Given the description of an element on the screen output the (x, y) to click on. 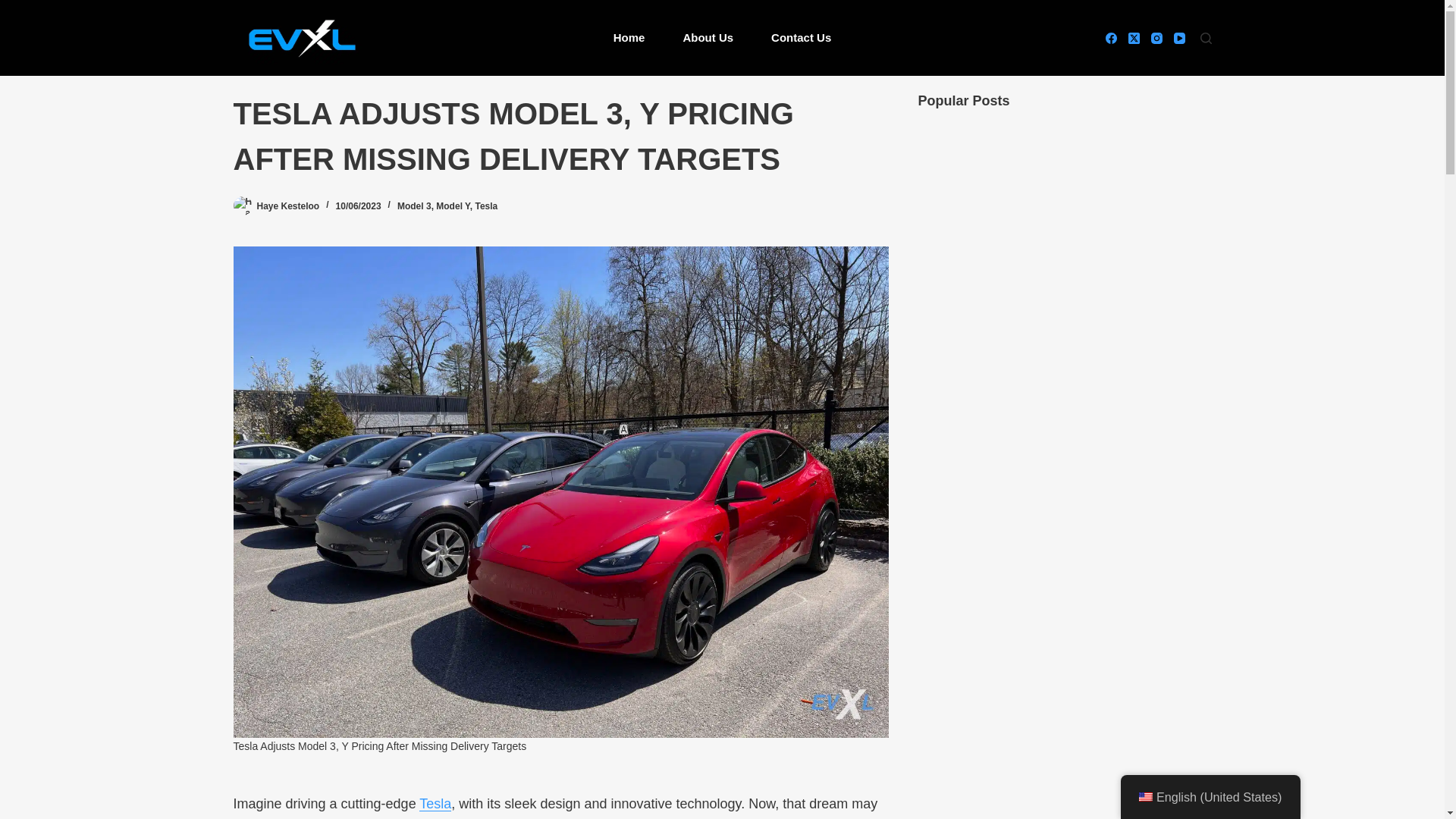
Posts by Haye Kesteloo (287, 205)
Haye Kesteloo (287, 205)
Tesla (485, 205)
Skip to content (15, 7)
About Us (707, 37)
Model Y (451, 205)
Tesla (435, 803)
Model 3 (413, 205)
